Given the description of an element on the screen output the (x, y) to click on. 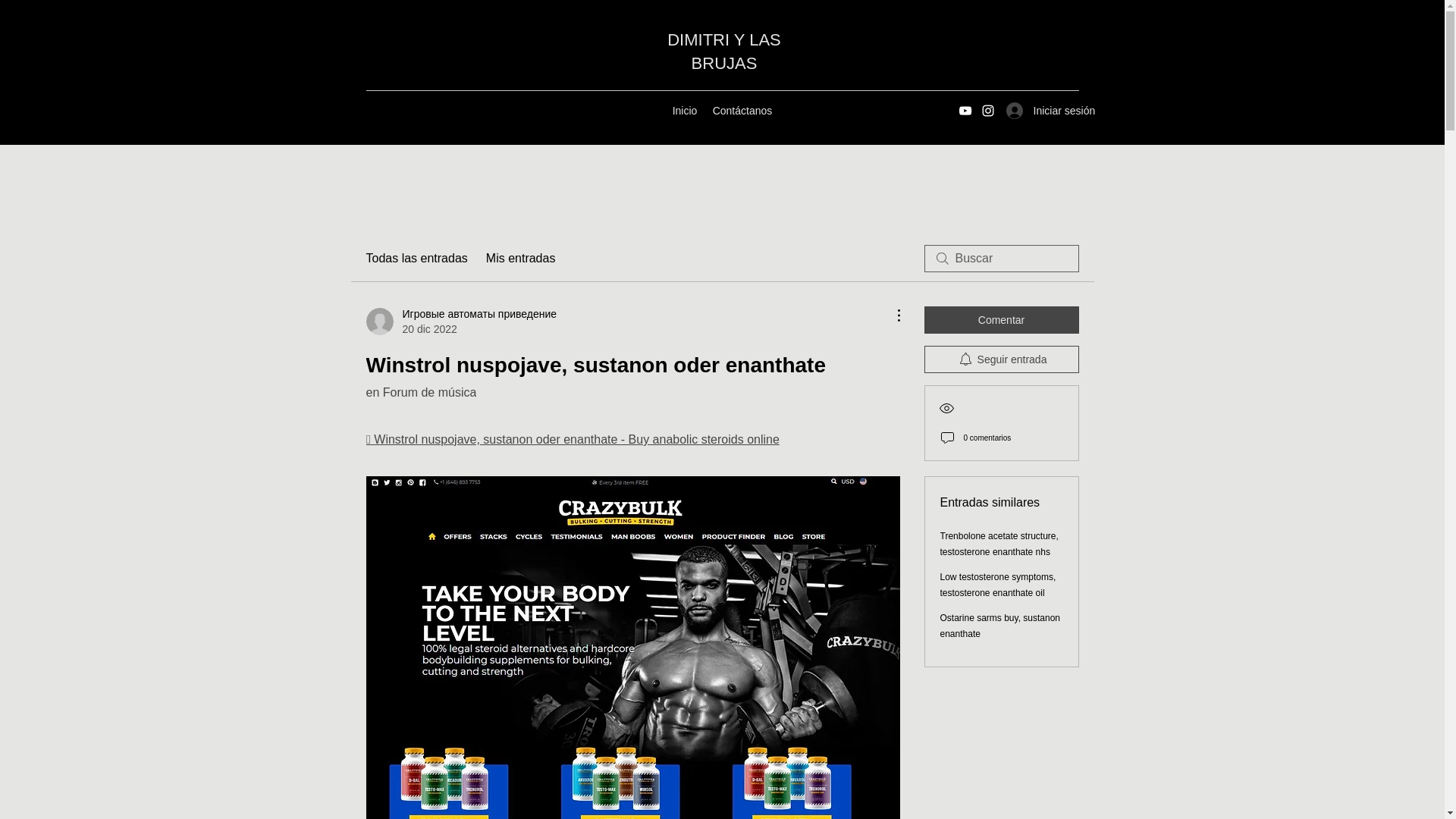
Inicio (683, 110)
Mis entradas (521, 258)
Comentar (1000, 319)
Todas las entradas (416, 258)
Ostarine sarms buy, sustanon enanthate (1000, 625)
DIMITRI Y LAS BRUJAS (723, 51)
Seguir entrada (1000, 359)
Low testosterone symptoms, testosterone enanthate oil (998, 584)
Trenbolone acetate structure, testosterone enanthate nhs (999, 543)
